Given the description of an element on the screen output the (x, y) to click on. 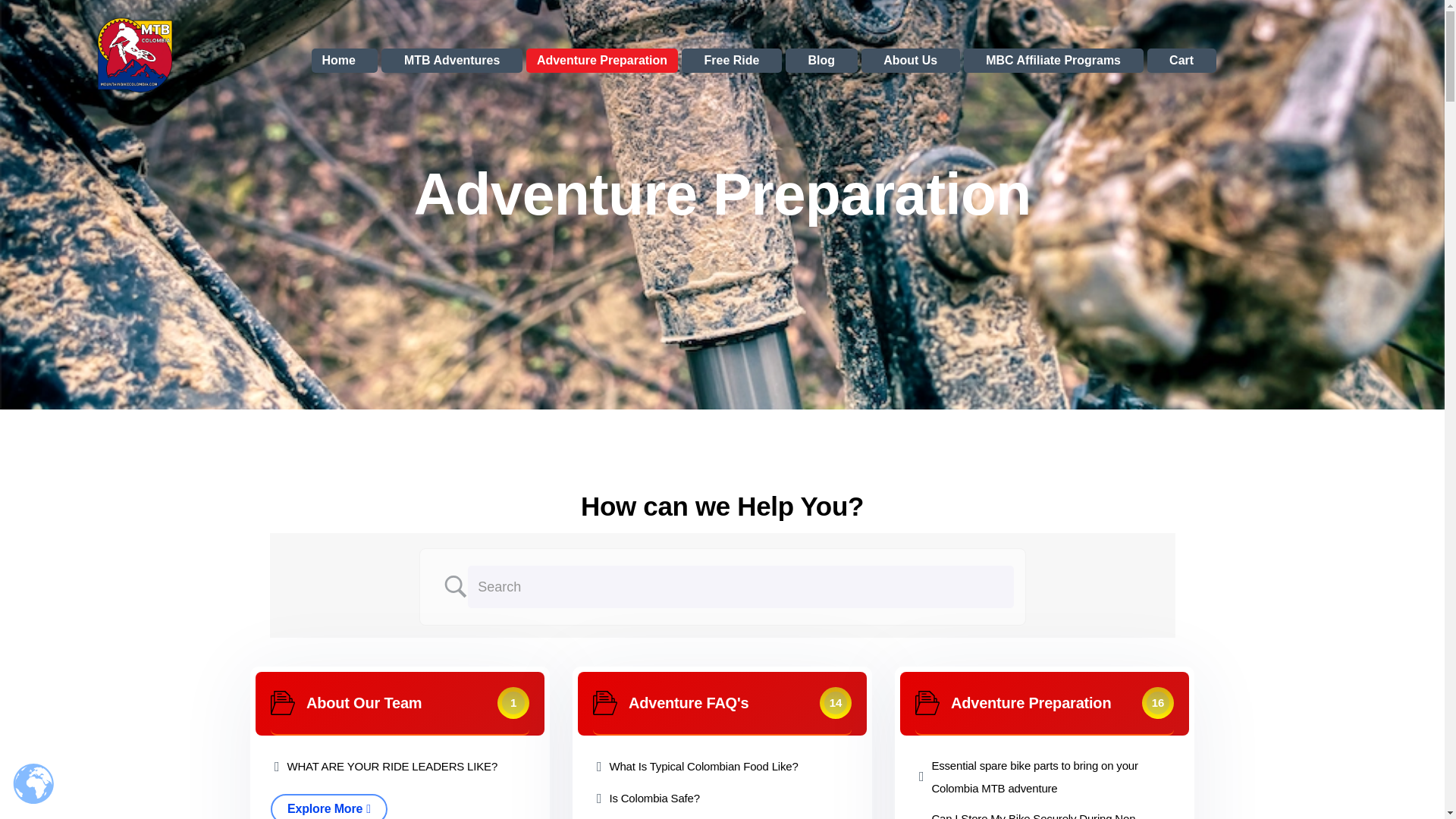
MTB Adventures (451, 60)
Adventure Preparation (604, 702)
WHAT ARE YOUR RIDE LEADERS LIKE? (391, 766)
Adventure Preparation (601, 60)
Blog (821, 60)
Explore More (328, 806)
Home (344, 60)
MBC Affiliate Programs (1052, 60)
About Us (910, 60)
